Given the description of an element on the screen output the (x, y) to click on. 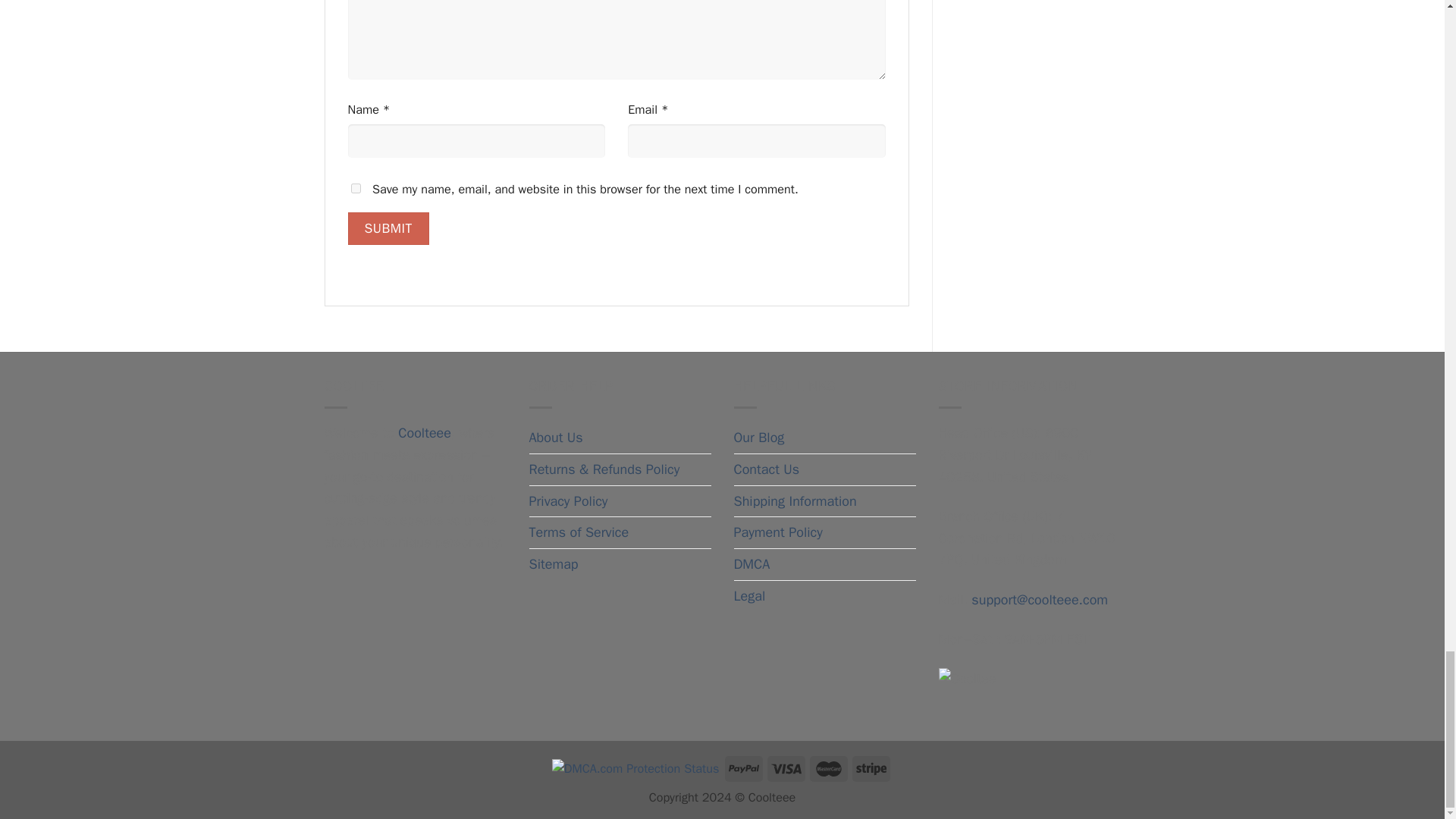
yes (354, 188)
Submit (387, 228)
